Given the description of an element on the screen output the (x, y) to click on. 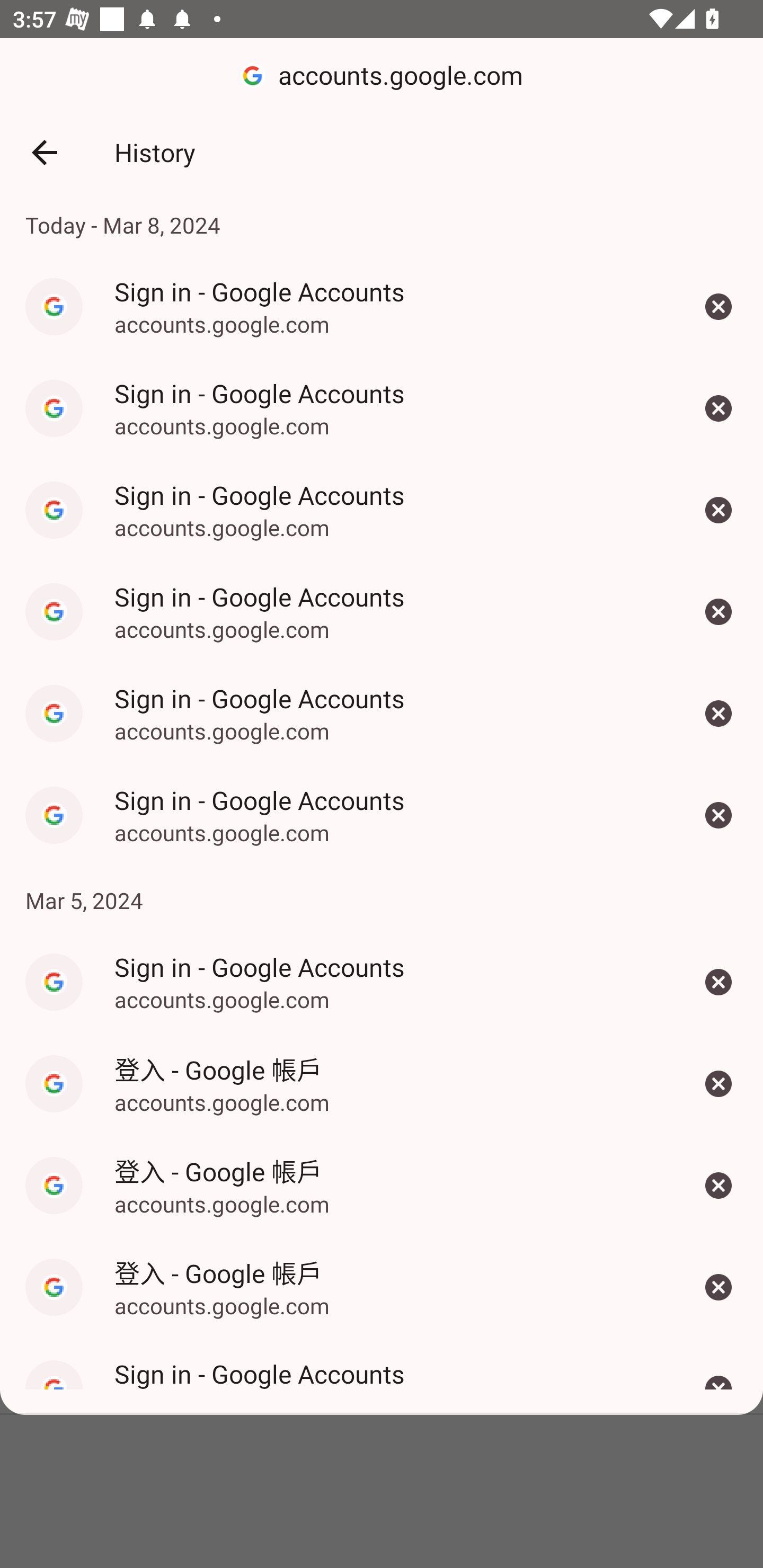
accounts.google.com (381, 75)
Back (44, 152)
Sign in - Google Accounts Remove (718, 306)
Sign in - Google Accounts Remove (718, 408)
Sign in - Google Accounts Remove (718, 510)
Sign in - Google Accounts Remove (718, 612)
Sign in - Google Accounts Remove (718, 714)
Sign in - Google Accounts Remove (718, 815)
Sign in - Google Accounts Remove (718, 982)
登入 - Google 帳戶 Remove (718, 1084)
登入 - Google 帳戶 Remove (718, 1186)
登入 - Google 帳戶 Remove (718, 1287)
Sign in - Google Accounts Remove (718, 1375)
